Given the description of an element on the screen output the (x, y) to click on. 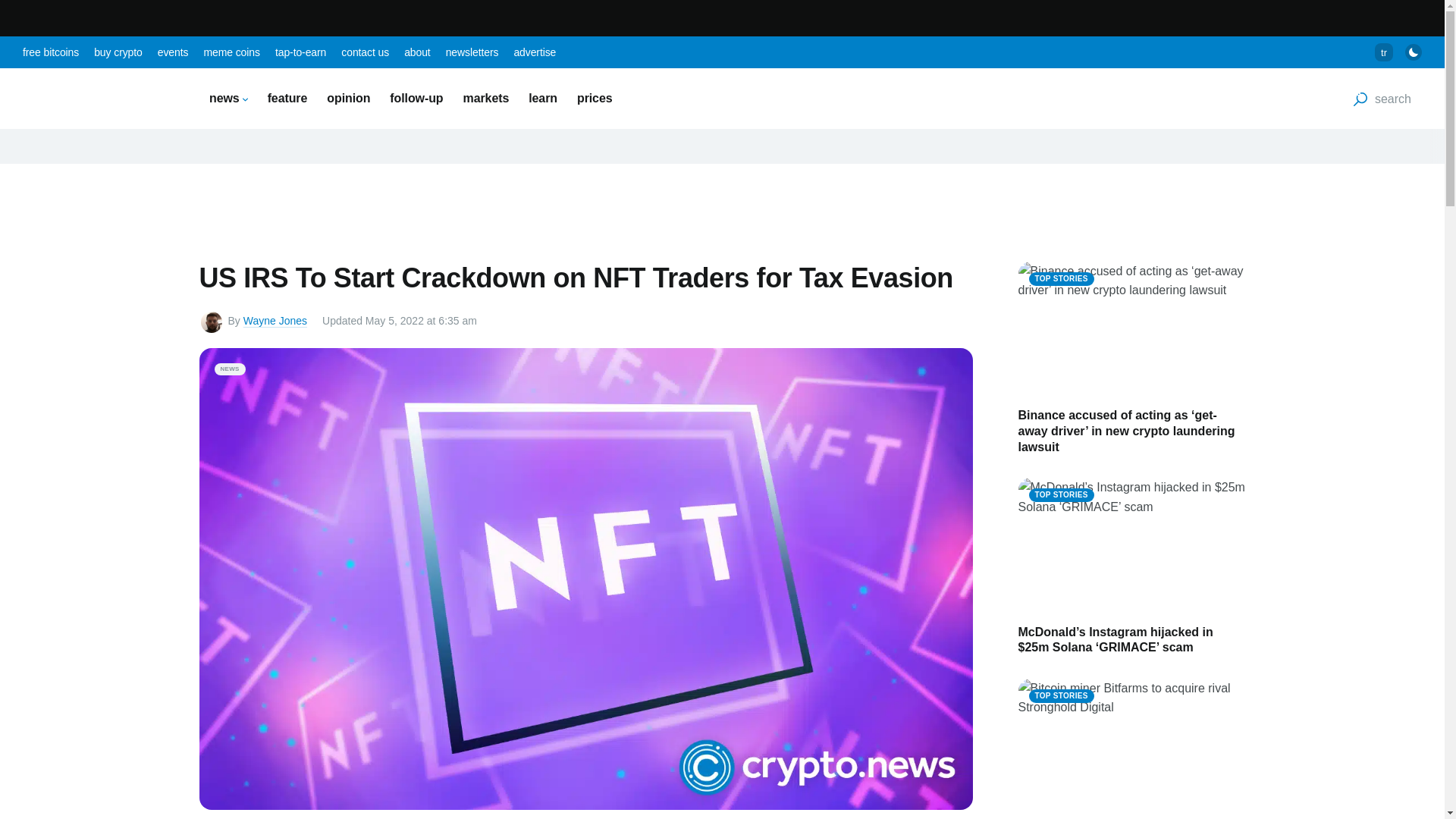
contact us (364, 51)
prices (594, 97)
events (173, 51)
tap-to-earn (300, 51)
Published April 20, 2022 at 2:00 am (399, 321)
advertise (534, 51)
follow-up (416, 97)
opinion (347, 97)
crypto.news (98, 98)
meme coins (231, 51)
